Given the description of an element on the screen output the (x, y) to click on. 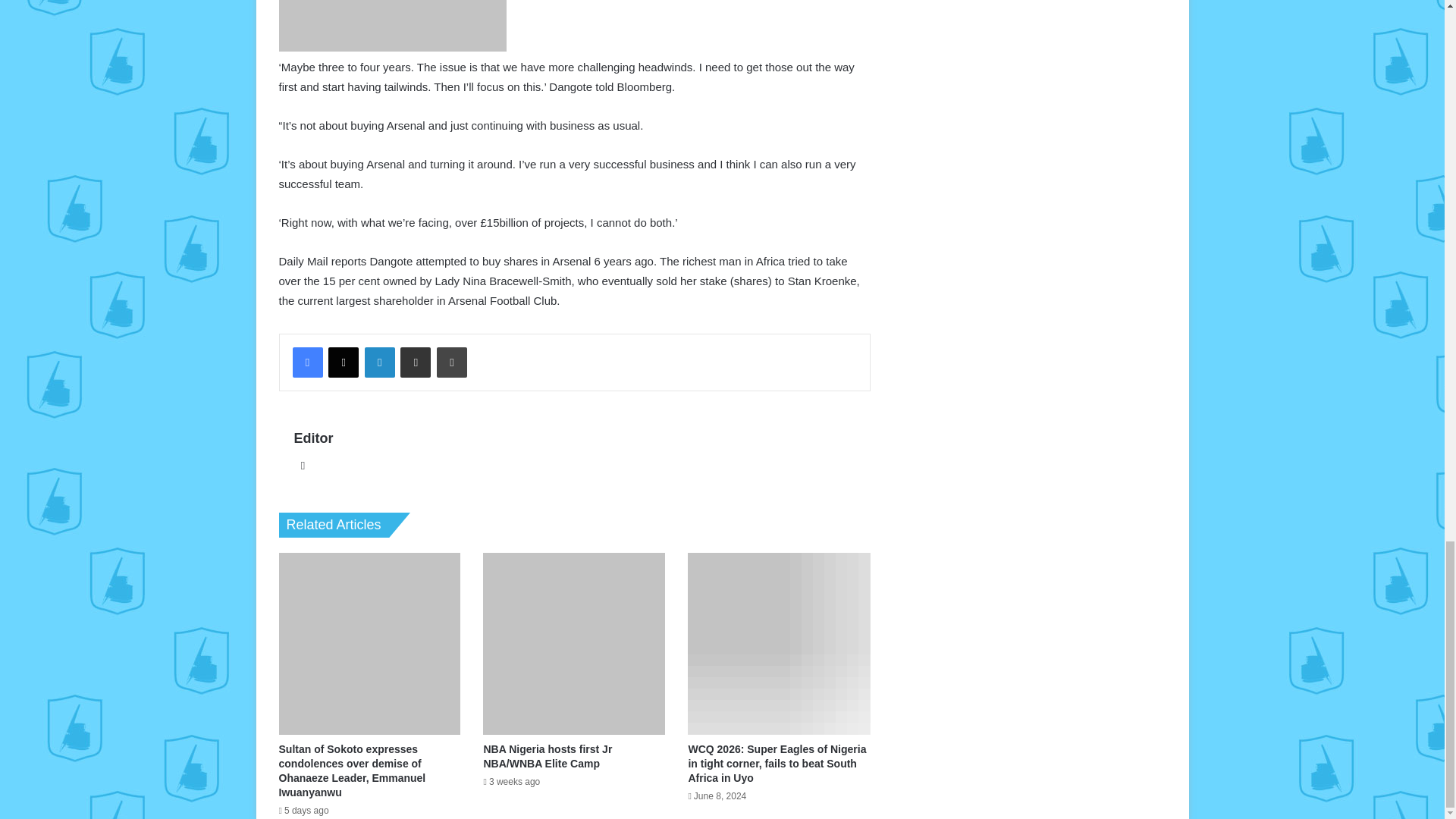
X (343, 362)
Facebook (307, 362)
